Given the description of an element on the screen output the (x, y) to click on. 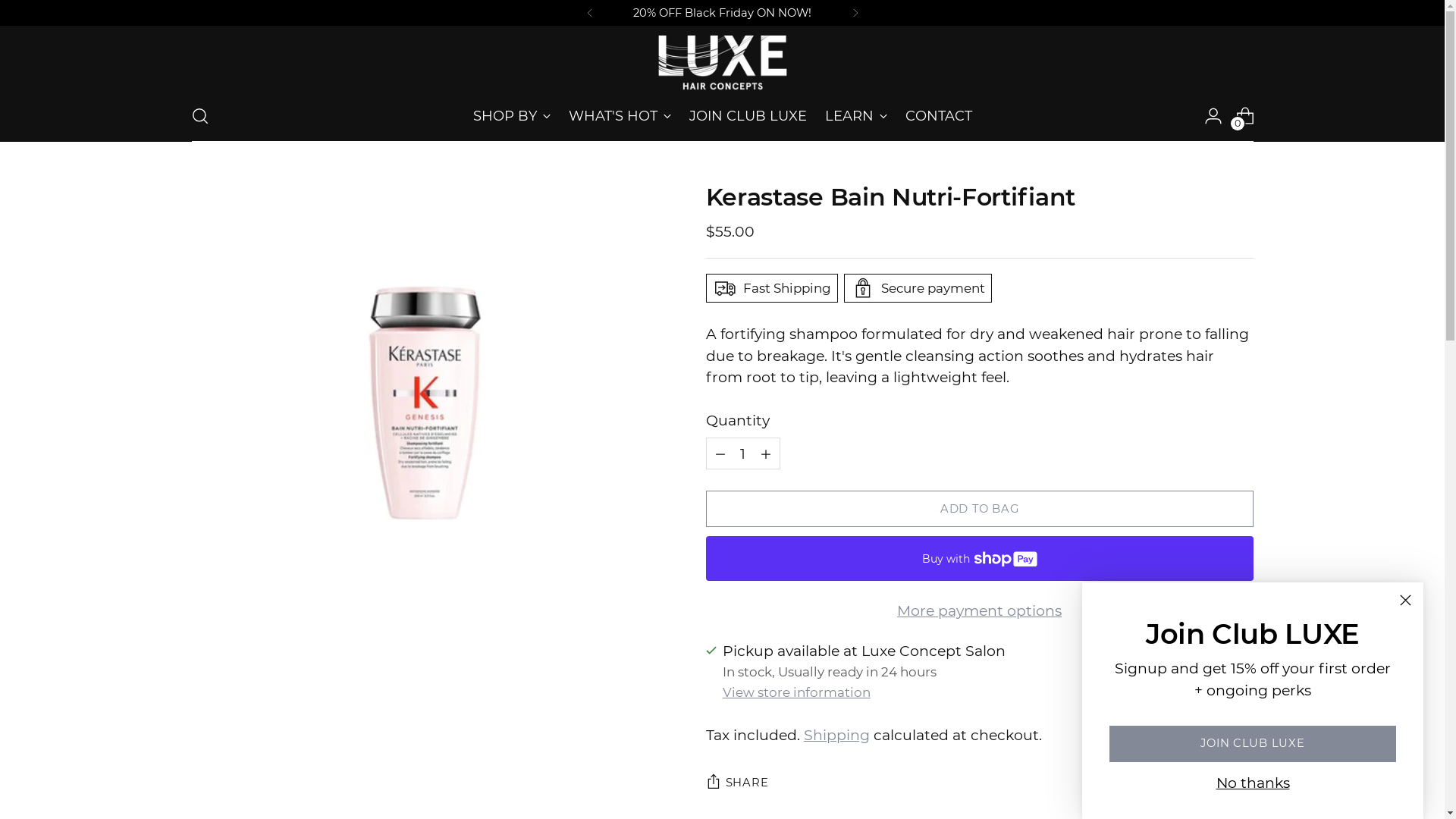
View store information Element type: text (796, 691)
0 Element type: text (1245, 115)
Previous Element type: hover (589, 12)
SHOP BY Element type: text (511, 115)
More payment options Element type: text (979, 610)
No thanks Element type: text (1252, 782)
Next Element type: hover (855, 12)
WHAT'S HOT Element type: text (619, 115)
SHARE Element type: text (737, 782)
LEARN Element type: text (856, 115)
Shipping Element type: text (836, 734)
ADD TO BAG Element type: text (979, 508)
JOIN CLUB LUXE Element type: text (747, 115)
JOIN CLUB LUXE Element type: text (1252, 743)
CONTACT Element type: text (938, 115)
